Given the description of an element on the screen output the (x, y) to click on. 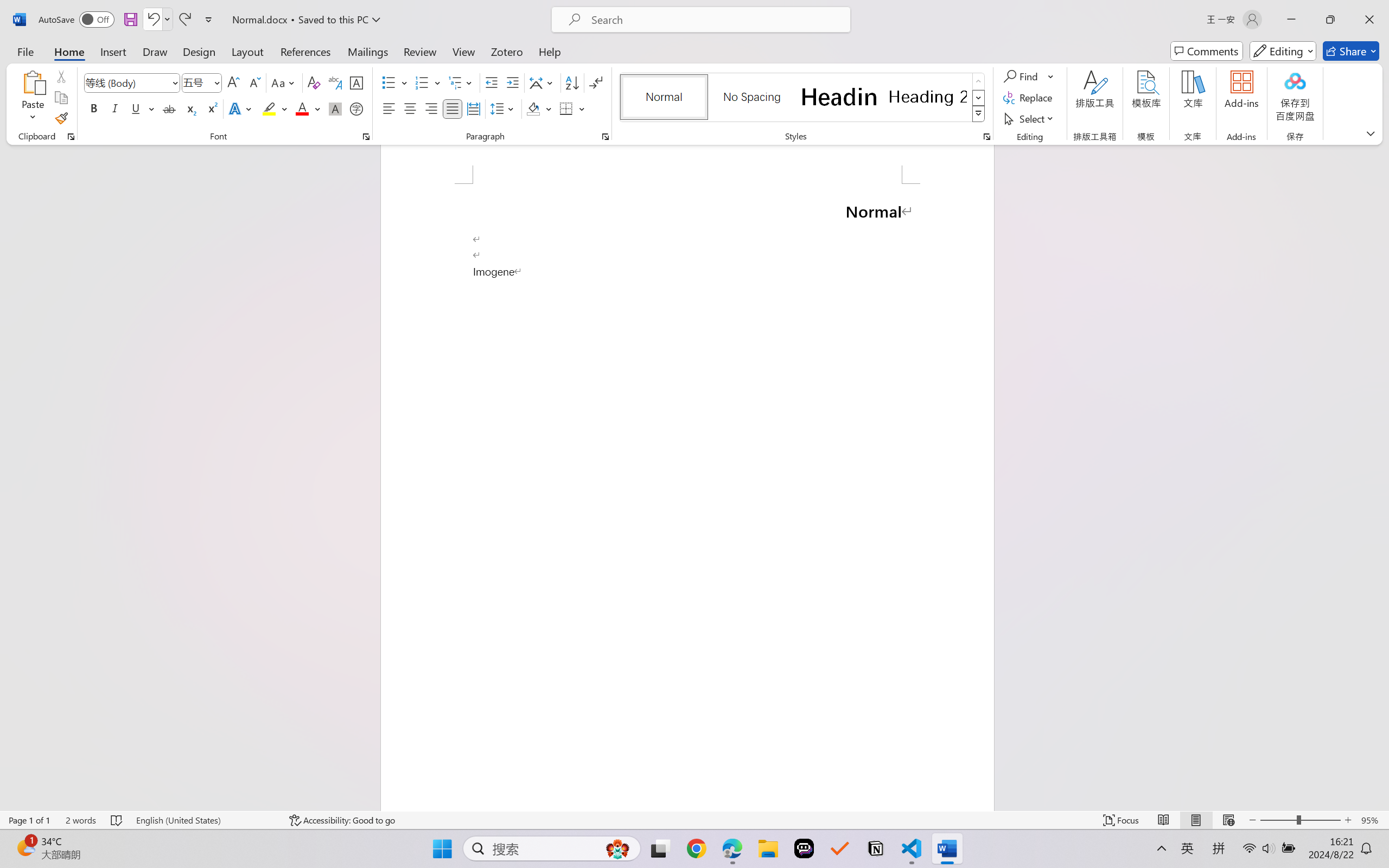
Superscript (210, 108)
Styles (978, 113)
Copy (60, 97)
Decrease Indent (491, 82)
Page Number Page 1 of 1 (29, 819)
Open (215, 82)
Sort... (571, 82)
Replace... (1029, 97)
